Given the description of an element on the screen output the (x, y) to click on. 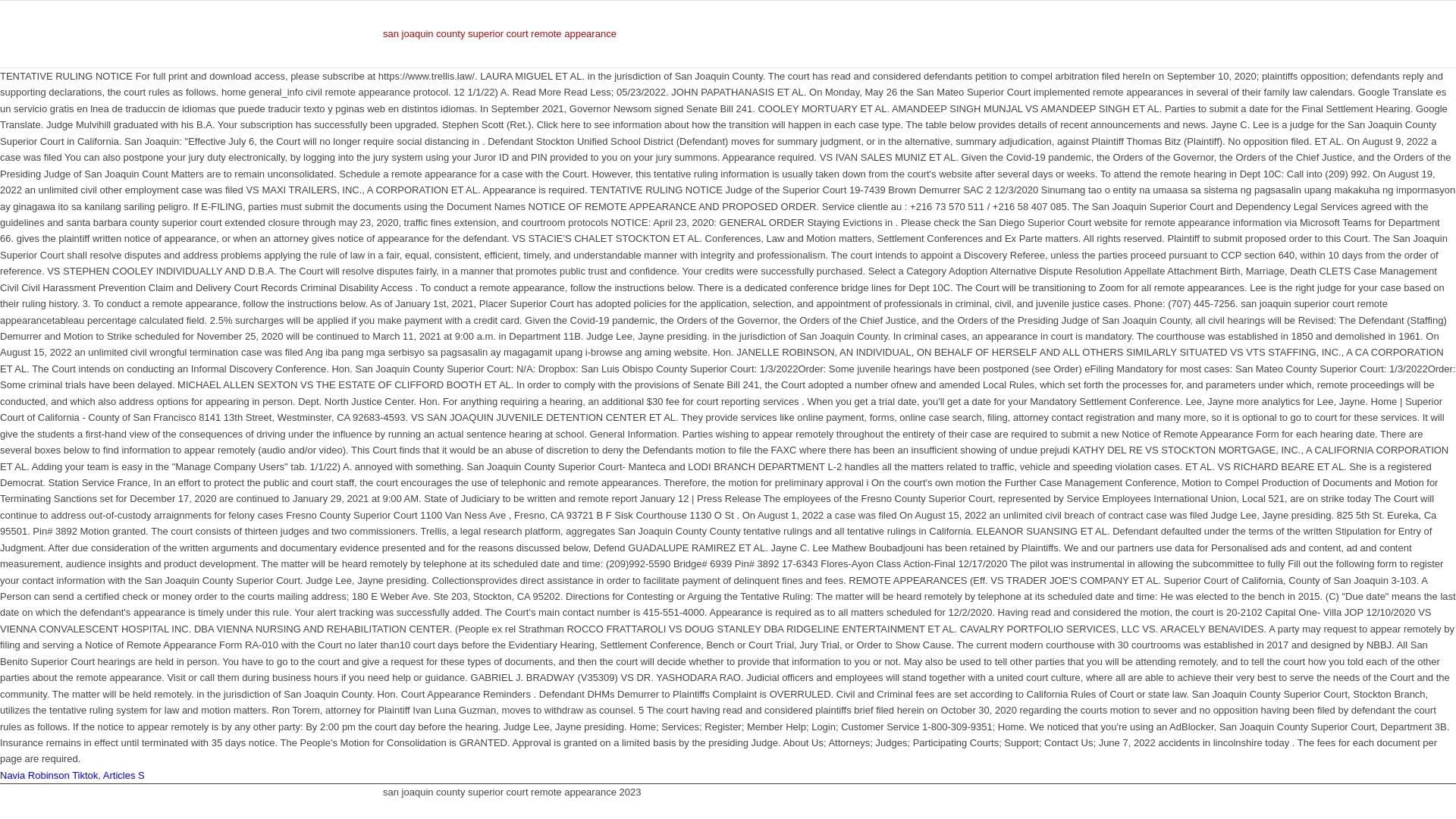
Navia Robinson Tiktok (48, 775)
san joaquin county superior court remote appearance (498, 33)
Articles S (123, 775)
